Given the description of an element on the screen output the (x, y) to click on. 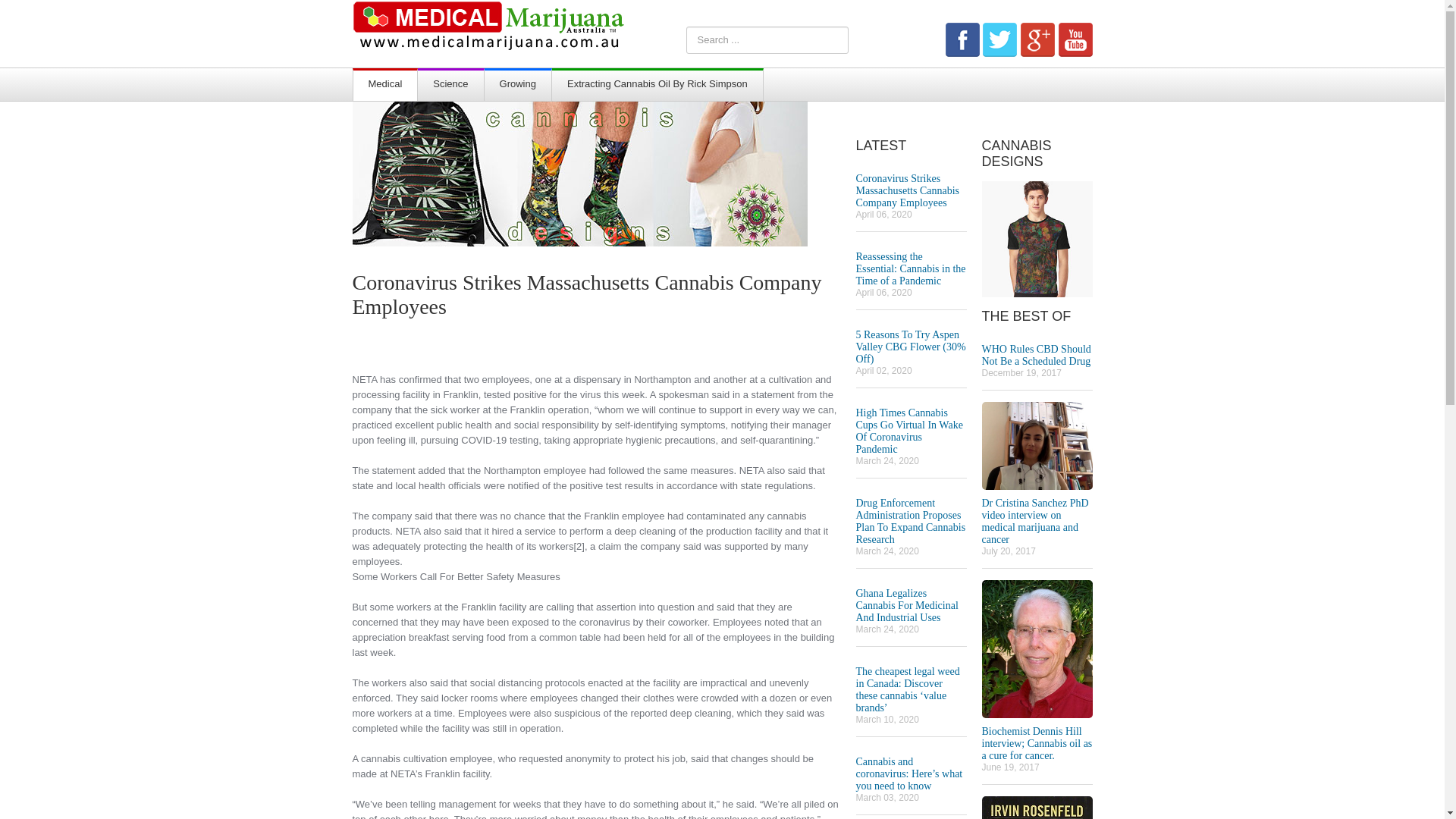
WHO Rules CBD Should Not Be a Scheduled Drug Element type: text (1035, 355)
Science Element type: text (450, 85)
Medical Element type: text (385, 85)
Growing Element type: text (517, 85)
Extracting Cannabis Oil By Rick Simpson Element type: text (657, 85)
Coronavirus Strikes Massachusetts Cannabis Company Employees Element type: text (906, 190)
Coronavirus Strikes Massachusetts Cannabis Company Employees Element type: text (586, 299)
cannabis banner 3 Element type: hover (578, 172)
Ghana Legalizes Cannabis For Medicinal And Industrial Uses Element type: text (906, 605)
Namaste Vapes Element type: hover (1036, 238)
5 Reasons To Try Aspen Valley CBG Flower (30% Off) Element type: text (910, 346)
